Given the description of an element on the screen output the (x, y) to click on. 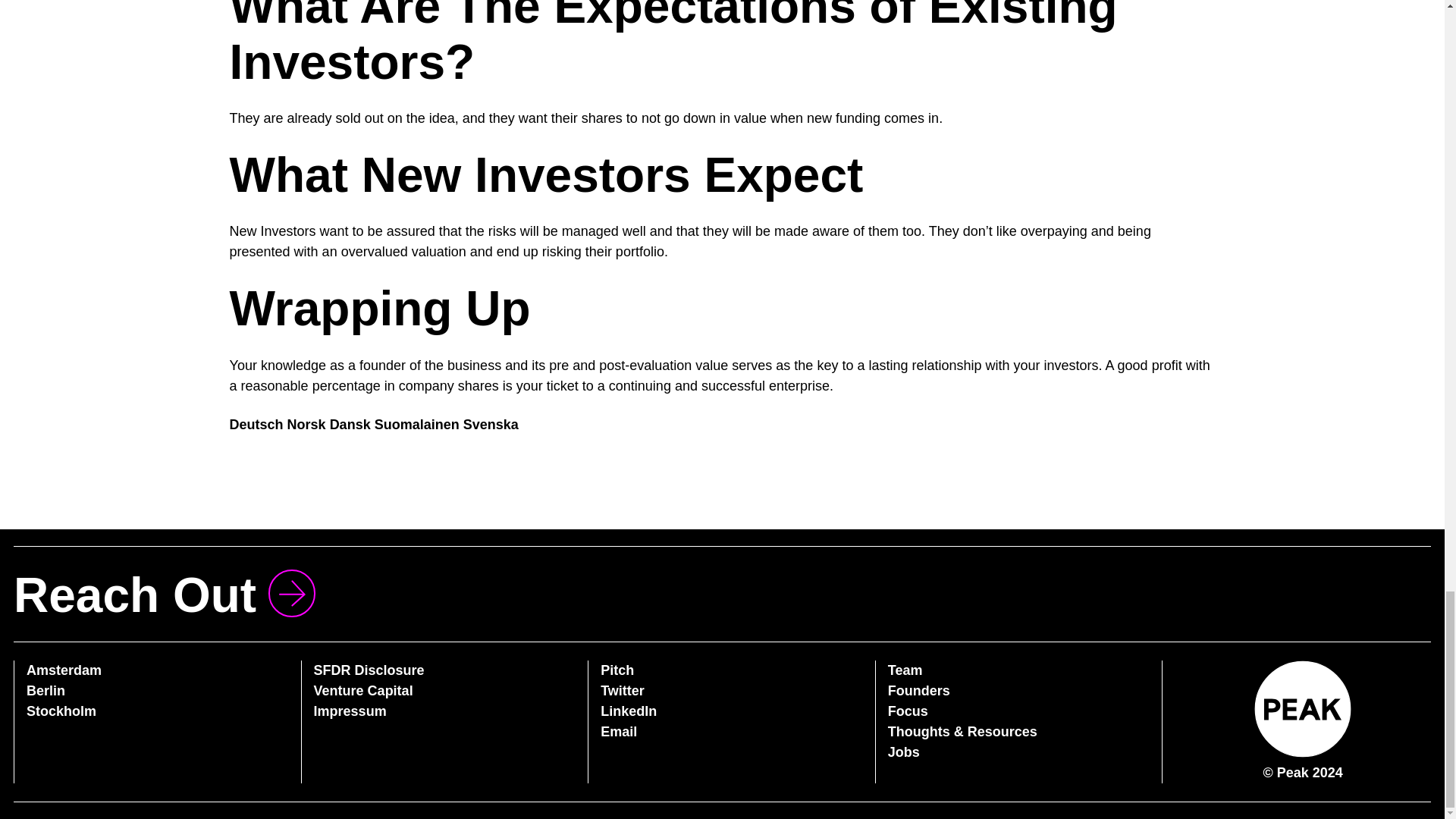
Team (905, 670)
Pitch (616, 670)
Svenska (490, 424)
SFDR Disclosure (369, 670)
Impressum (350, 711)
Focus (908, 711)
Suomalainen (417, 424)
Norsk (306, 424)
Reach Out (164, 594)
Email (618, 731)
